Given the description of an element on the screen output the (x, y) to click on. 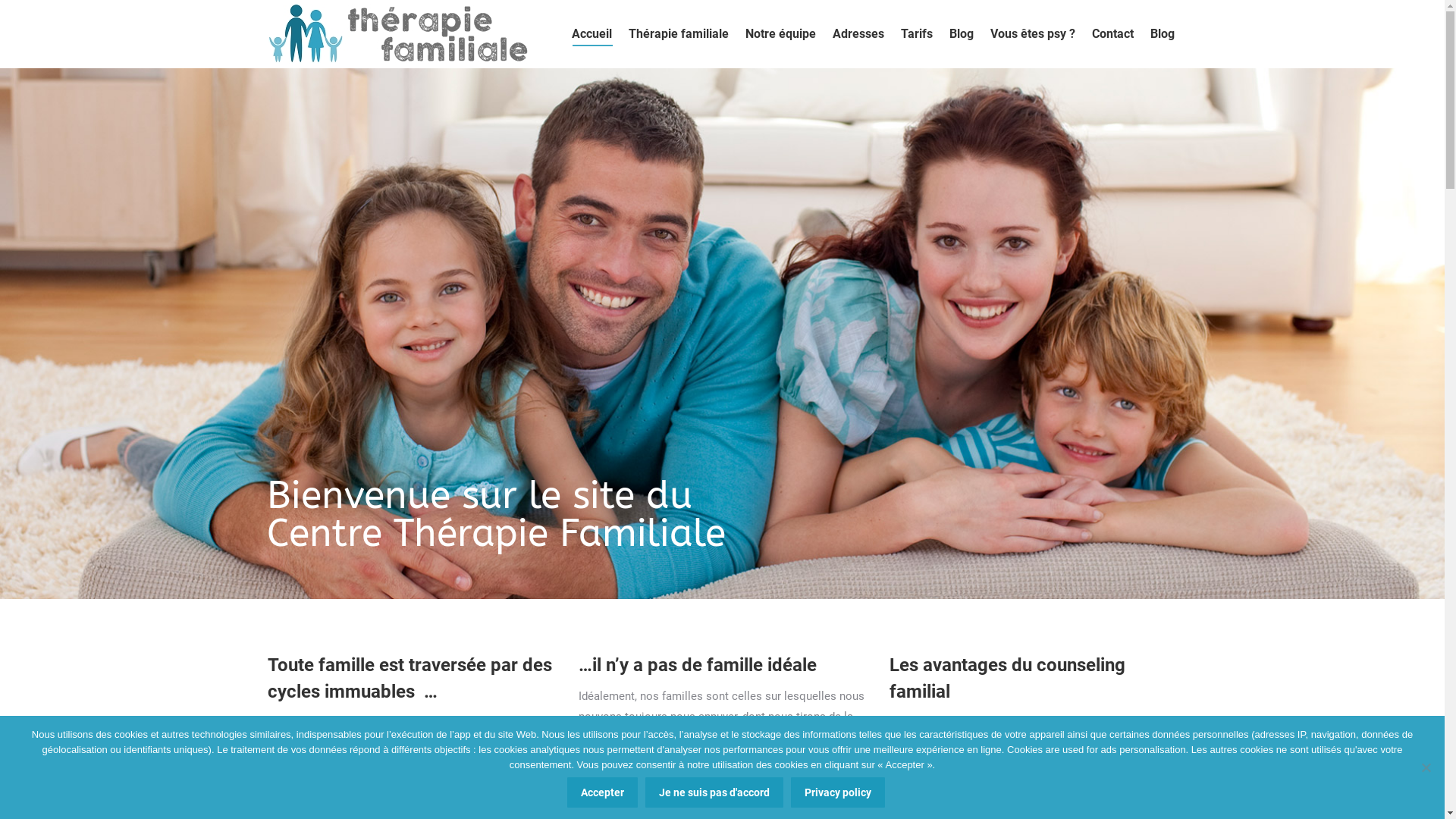
Blog Element type: text (1161, 33)
Privacy policy Element type: text (837, 792)
votre famille Element type: text (1070, 722)
Tarifs Element type: text (916, 33)
Contact Element type: text (1112, 33)
Je ne suis pas d'accord Element type: text (714, 792)
Accepter Element type: text (602, 792)
Adresses Element type: text (858, 33)
Je ne suis pas d'accord Element type: hover (1425, 767)
Blog Element type: text (961, 33)
Accueil Element type: text (591, 33)
